Given the description of an element on the screen output the (x, y) to click on. 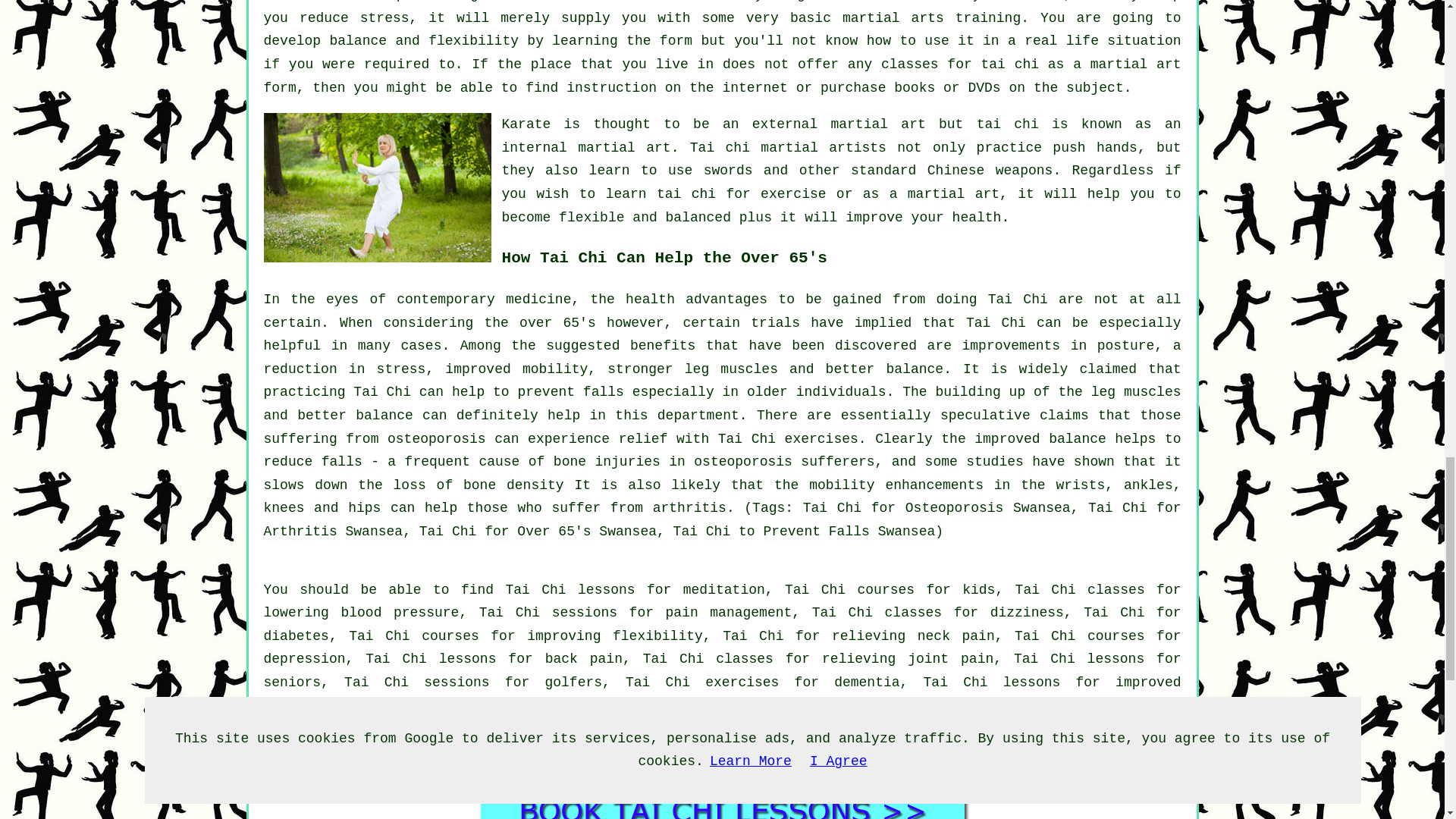
Book Tai Chi Lessons (722, 798)
